Given the description of an element on the screen output the (x, y) to click on. 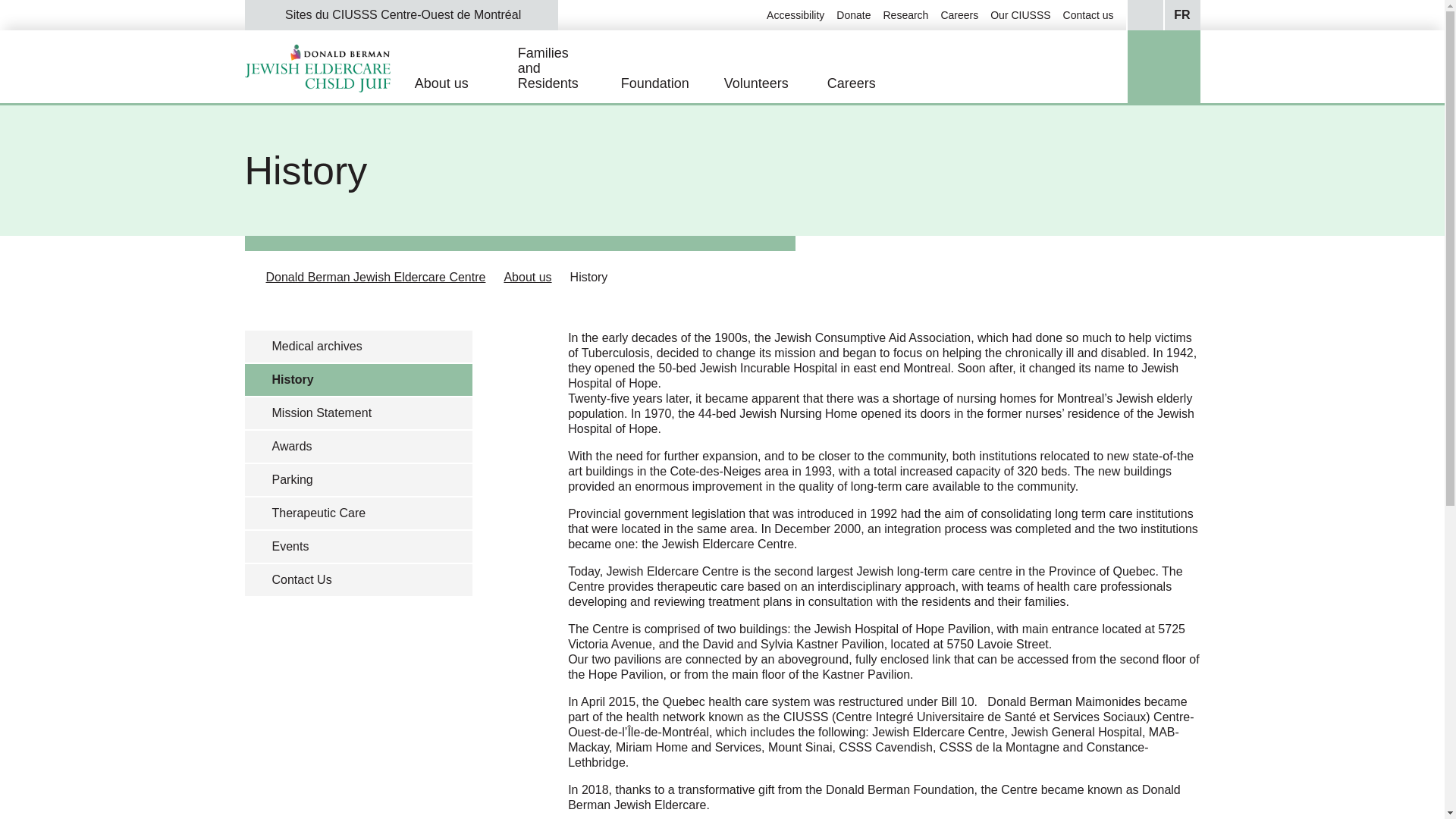
About us (466, 83)
About us (527, 277)
Donald Berman Jewish Eldercare Centre (374, 277)
FR (1181, 15)
History (589, 277)
